Given the description of an element on the screen output the (x, y) to click on. 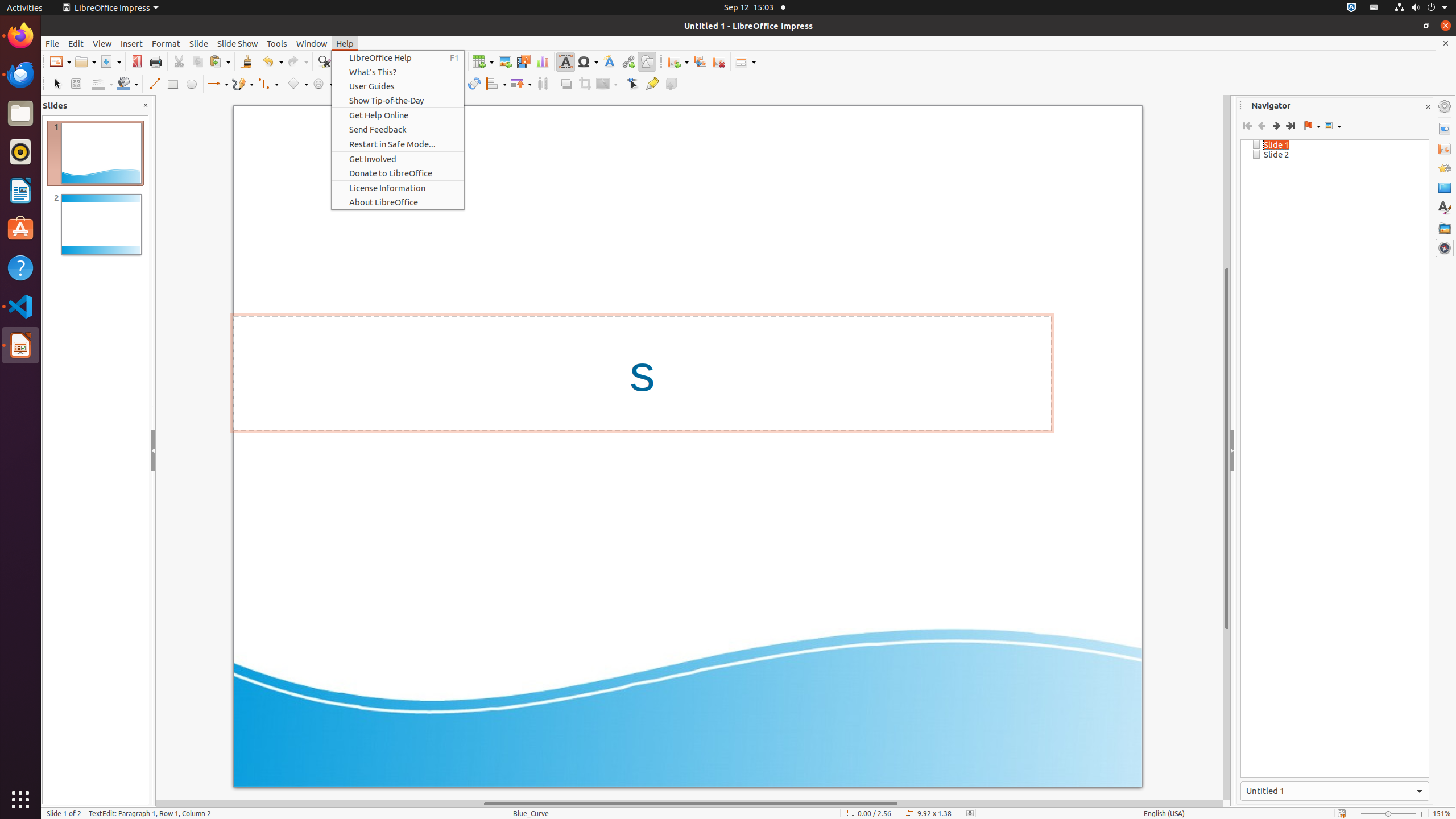
Show Tip-of-the-Day Element type: menu-item (397, 100)
Rectangle Element type: push-button (172, 83)
Line Color Element type: push-button (101, 83)
LibreOffice Help Element type: menu-item (397, 57)
:1.21/StatusNotifierItem Element type: menu (1373, 7)
